Given the description of an element on the screen output the (x, y) to click on. 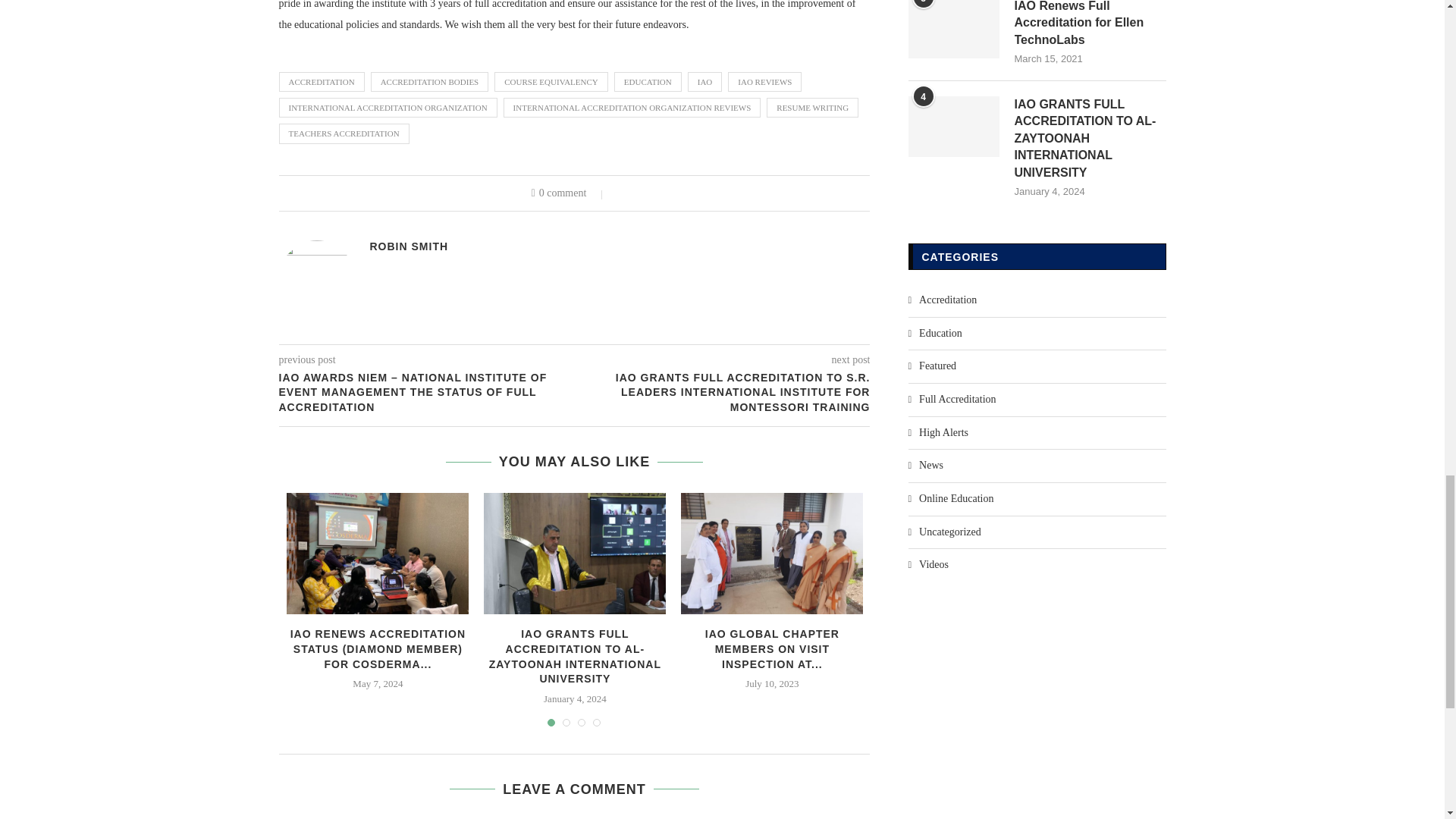
Posts by Robin Smith (408, 246)
EDUCATION (647, 81)
IAO REVIEWS (765, 81)
IAO (704, 81)
COURSE EQUIVALENCY (551, 81)
INTERNATIONAL ACCREDITATION ORGANIZATION REVIEWS (632, 107)
INTERNATIONAL ACCREDITATION ORGANIZATION (388, 107)
ACCREDITATION (322, 81)
